Given the description of an element on the screen output the (x, y) to click on. 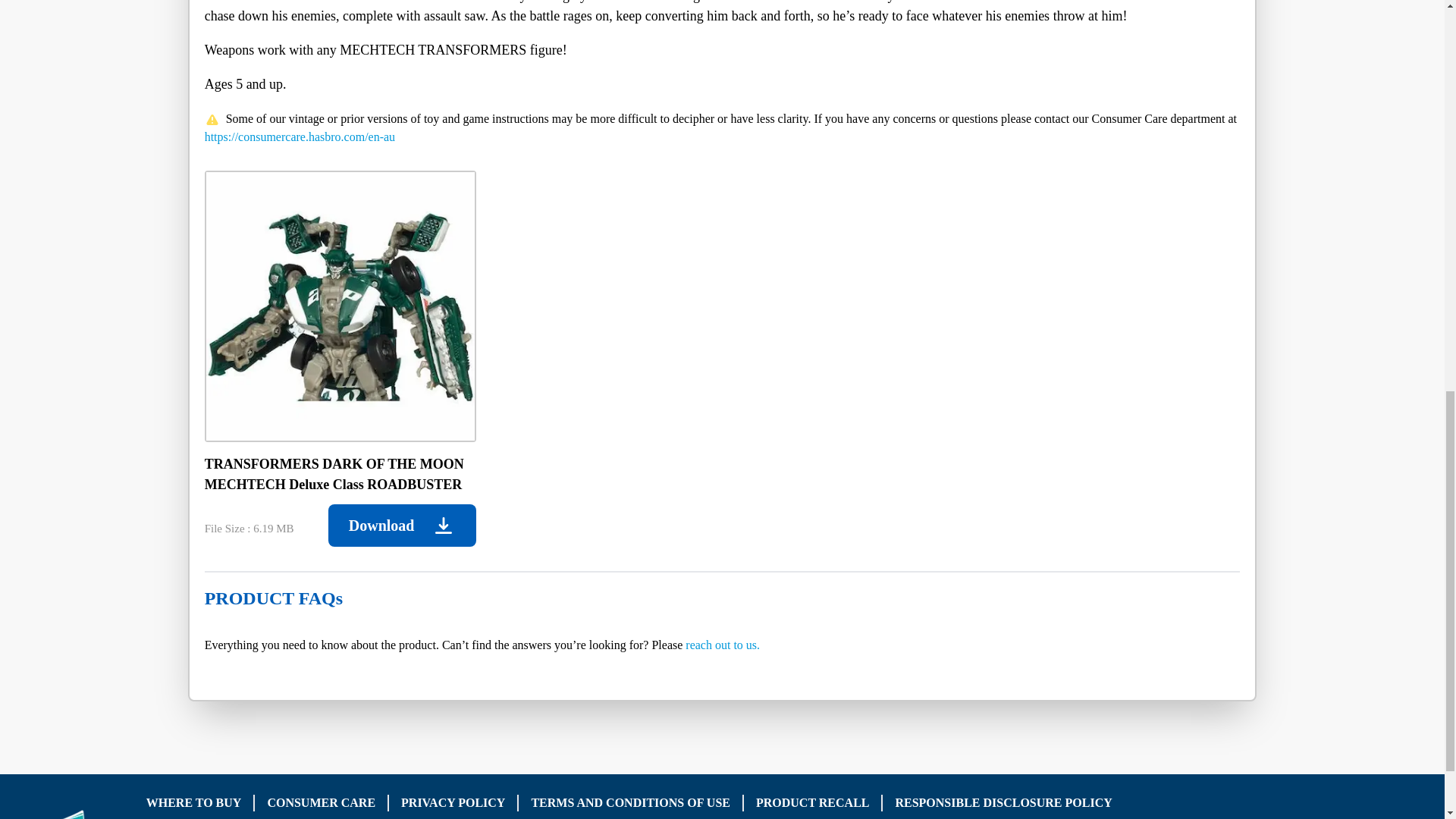
PRODUCT RECALL (812, 802)
reach out to us. (722, 644)
PRIVACY POLICY (453, 802)
RESPONSIBLE DISCLOSURE POLICY (1003, 802)
Download (402, 525)
CONSUMER CARE (320, 802)
TERMS AND CONDITIONS OF USE (630, 802)
WHERE TO BUY (194, 802)
